Given the description of an element on the screen output the (x, y) to click on. 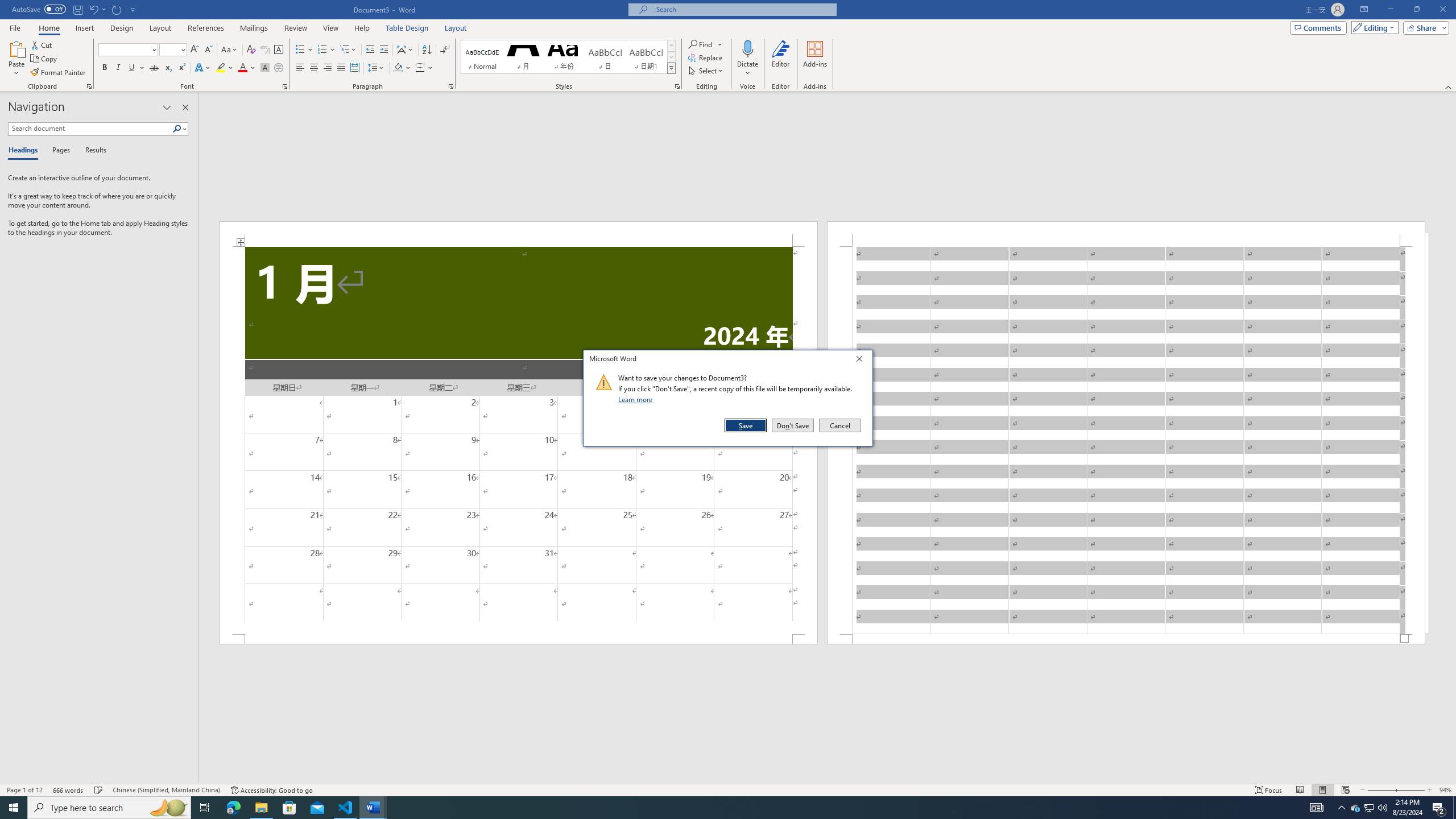
Pages (59, 150)
Center (313, 67)
Dictate (747, 48)
Numbering (322, 49)
Action Center, 2 new notifications (1439, 807)
Multilevel List (347, 49)
Minimize (1390, 9)
Phonetic Guide... (264, 49)
Mailings (253, 28)
Line and Paragraph Spacing (376, 67)
Text Highlight Color Yellow (220, 67)
Shading RGB(0, 0, 0) (397, 67)
Styles (670, 67)
Accessibility Checker Accessibility: Good to go (271, 790)
